Given the description of an element on the screen output the (x, y) to click on. 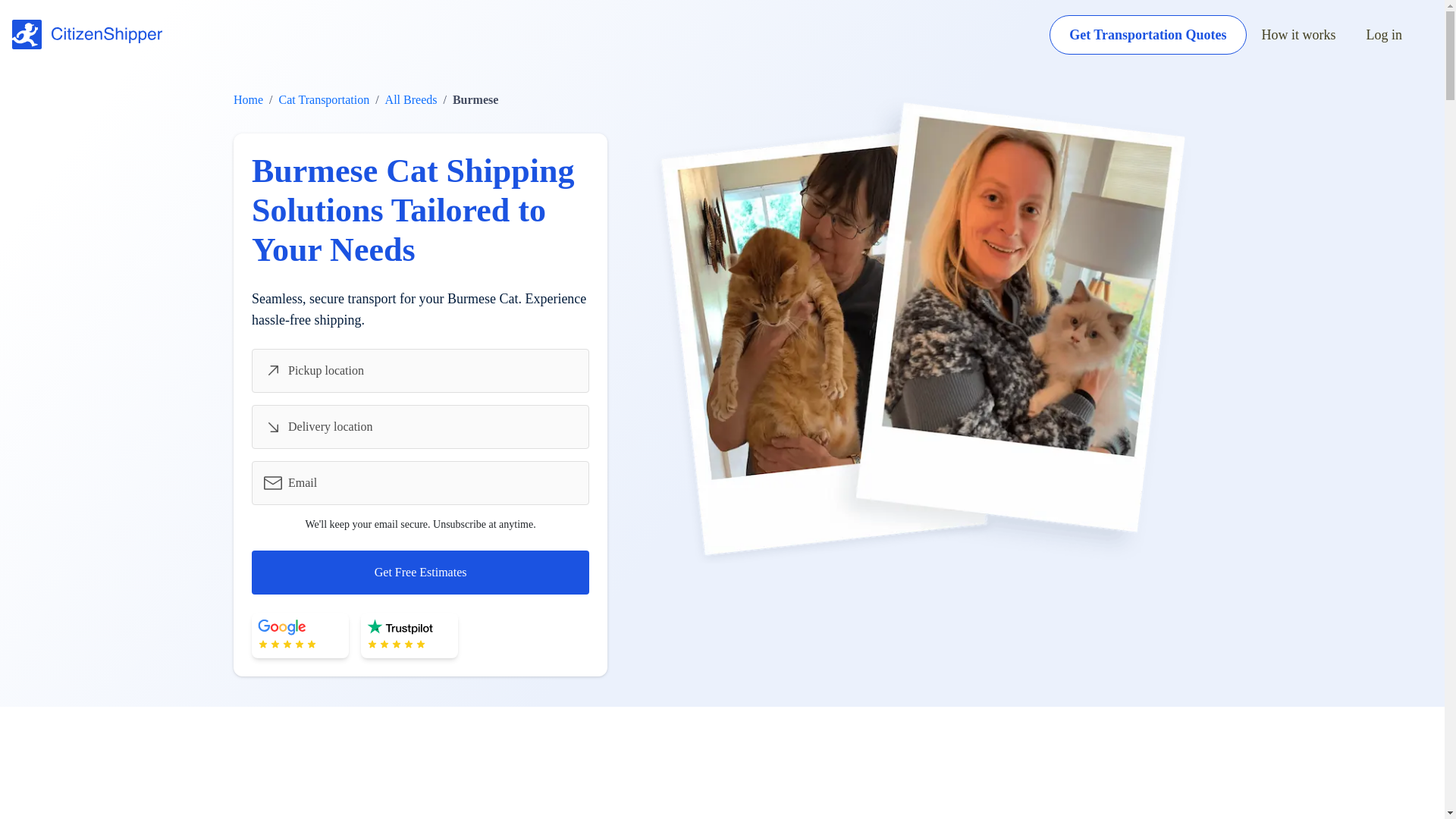
All Breeds (411, 99)
Get Free Estimates (420, 572)
Cat Transportation (324, 99)
How it works (1299, 34)
Home (247, 99)
Log in (1385, 34)
Get Transportation Quotes (1147, 34)
